Given the description of an element on the screen output the (x, y) to click on. 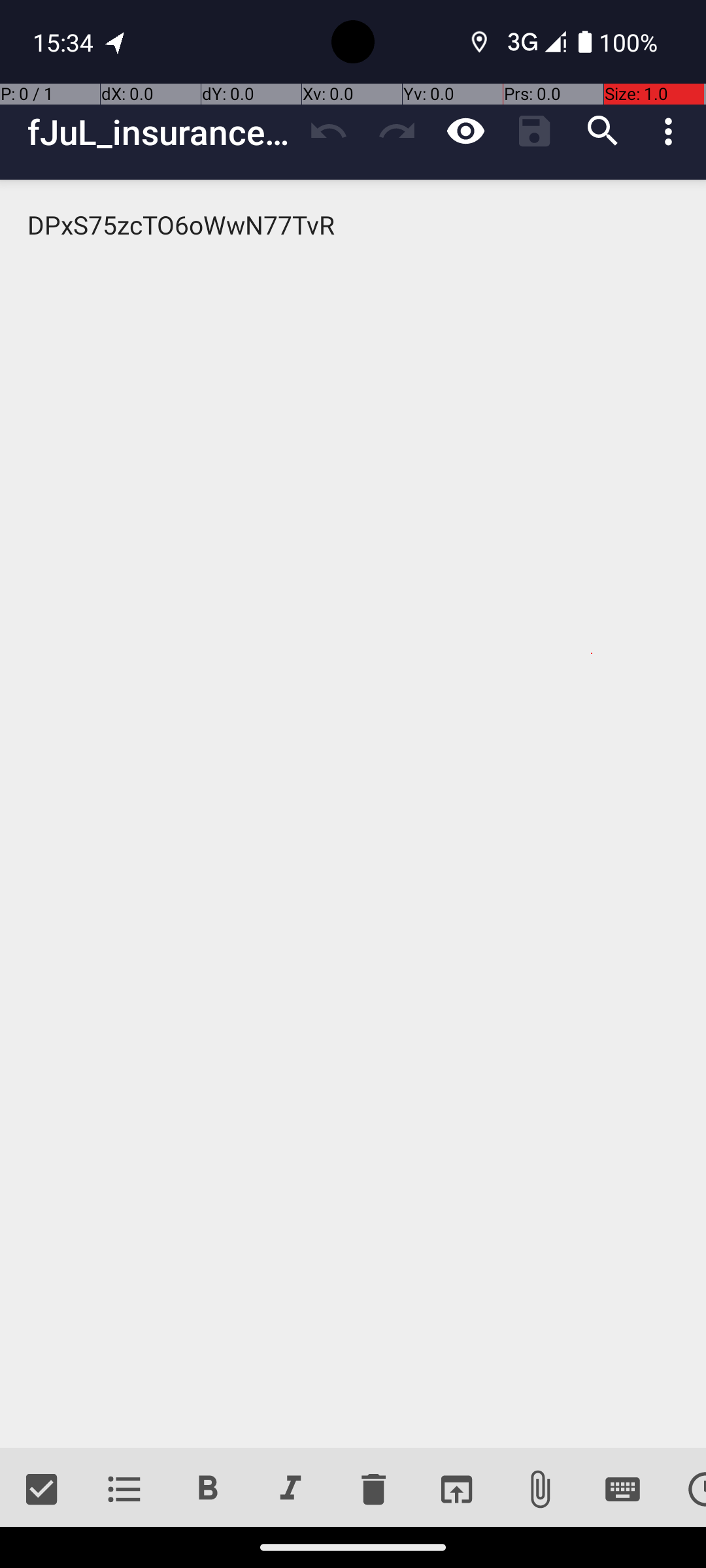
fJuL_insurance_plan_comparison Element type: android.widget.TextView (160, 131)
DPxS75zcTO6oWwN77TvR
 Element type: android.widget.EditText (353, 813)
